Given the description of an element on the screen output the (x, y) to click on. 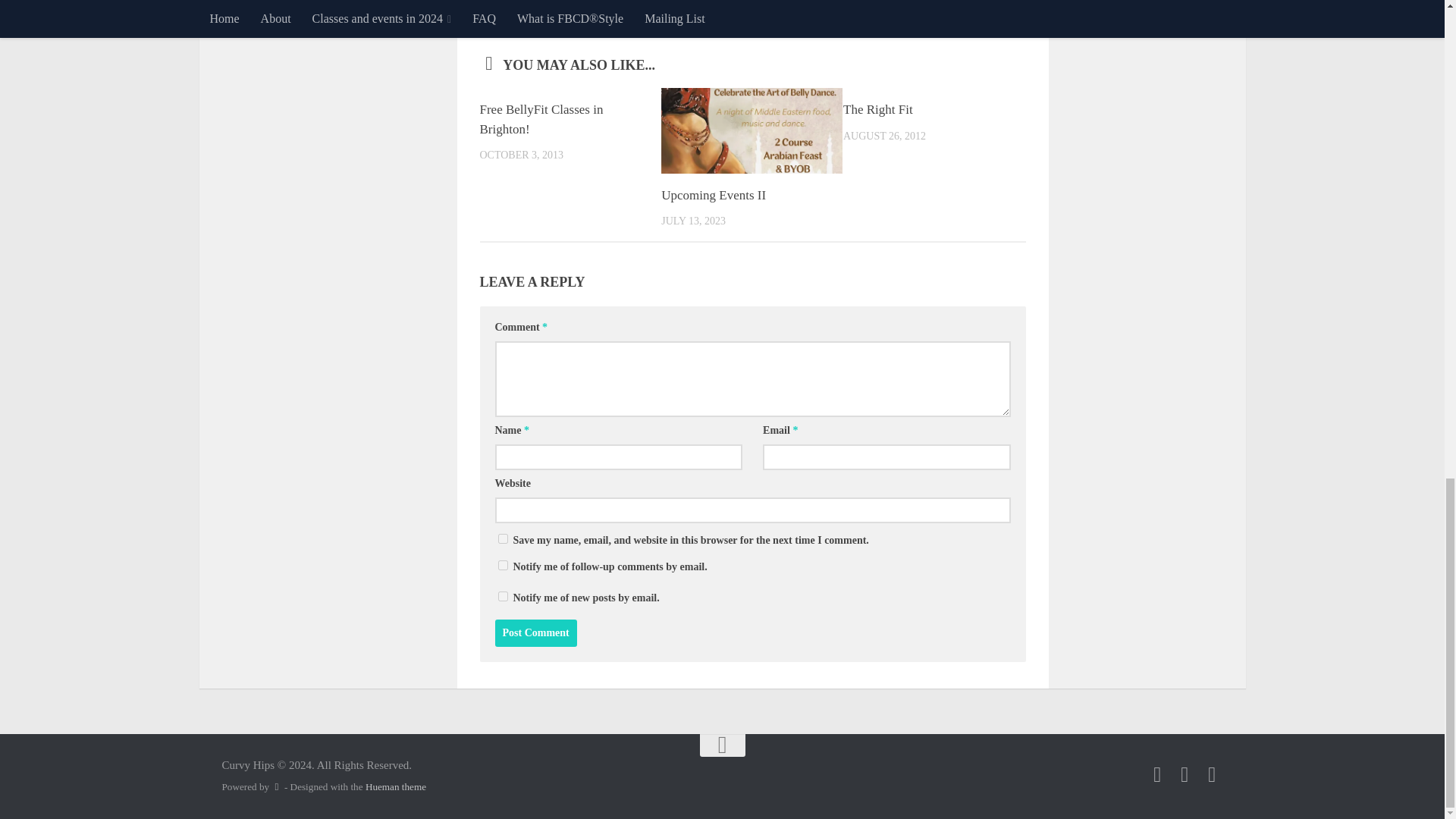
yes (501, 538)
subscribe (501, 565)
subscribe (501, 596)
The Right Fit (877, 109)
update (528, 12)
Free BellyFit Classes in Brighton! (540, 119)
website (569, 12)
Upcoming Events II (713, 195)
Post Comment (535, 633)
